Given the description of an element on the screen output the (x, y) to click on. 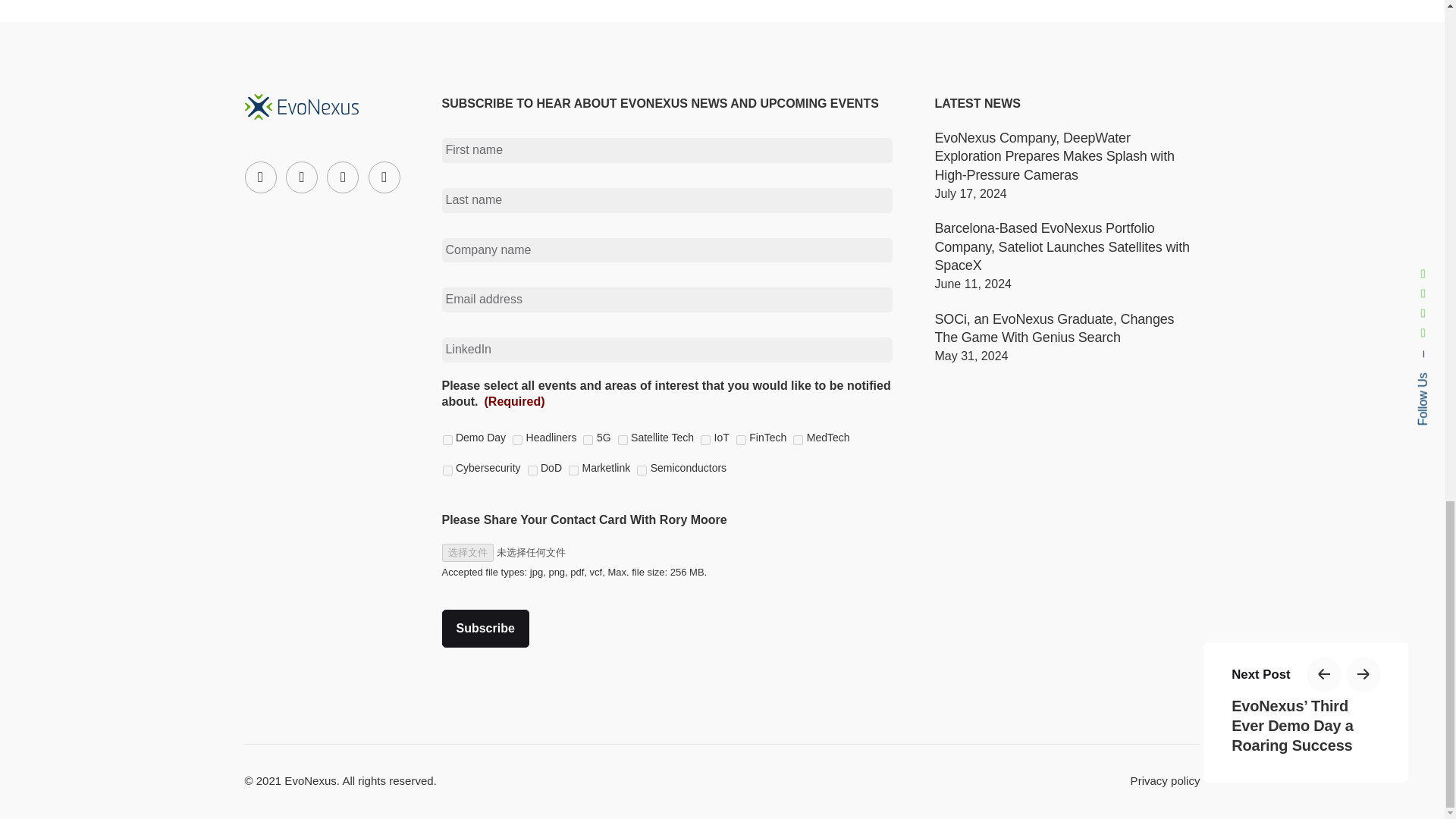
Cybersecurity (447, 470)
Marketlink (573, 470)
IoT (705, 439)
Demo Day (447, 439)
Semiconductors (641, 470)
FinTech (740, 439)
DoD (532, 470)
MedTech (798, 439)
Satellite Tech (622, 439)
Headliners (517, 439)
5G (587, 439)
Subscribe (484, 628)
